Given the description of an element on the screen output the (x, y) to click on. 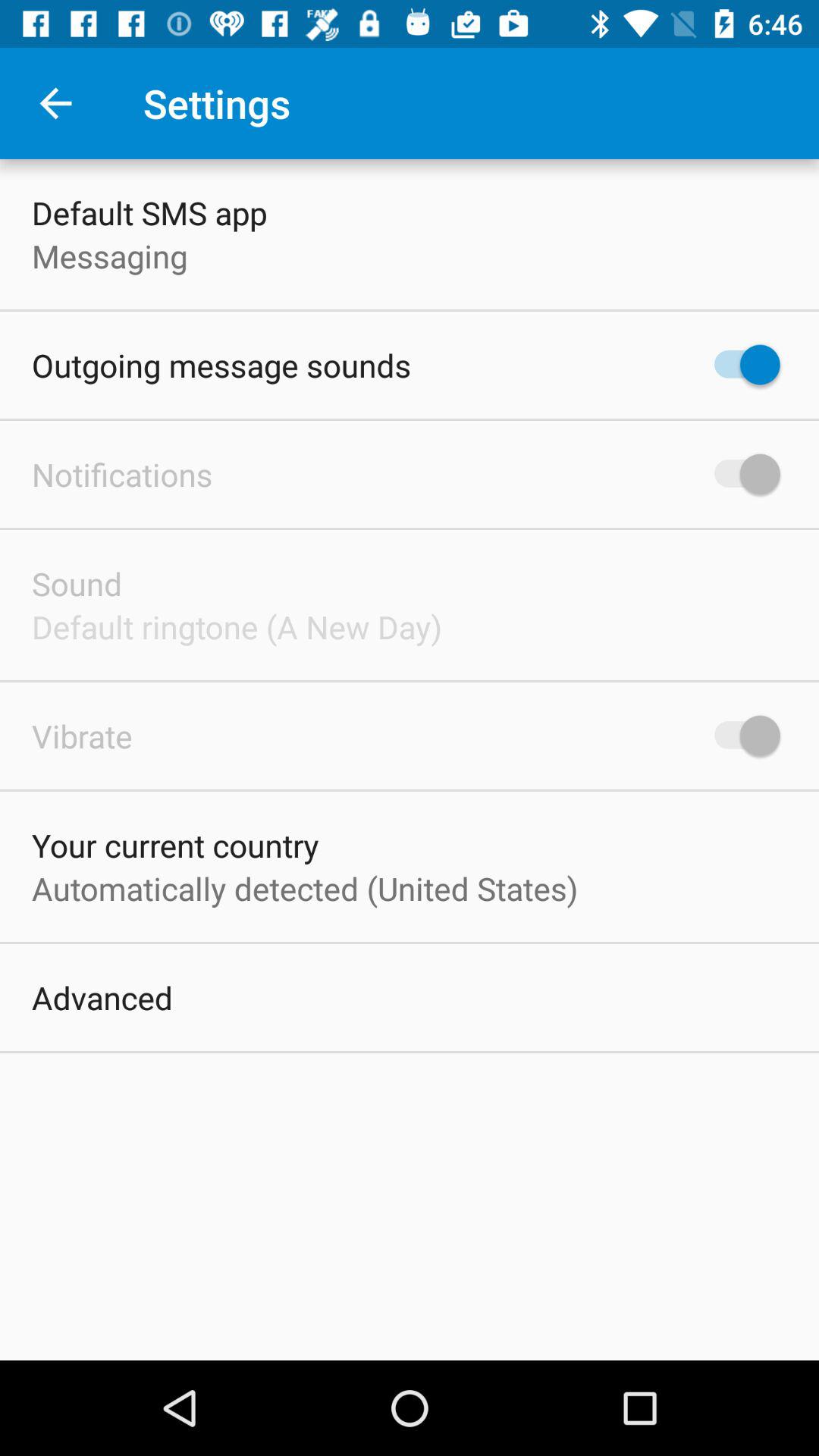
turn on icon above the automatically detected united icon (175, 844)
